Given the description of an element on the screen output the (x, y) to click on. 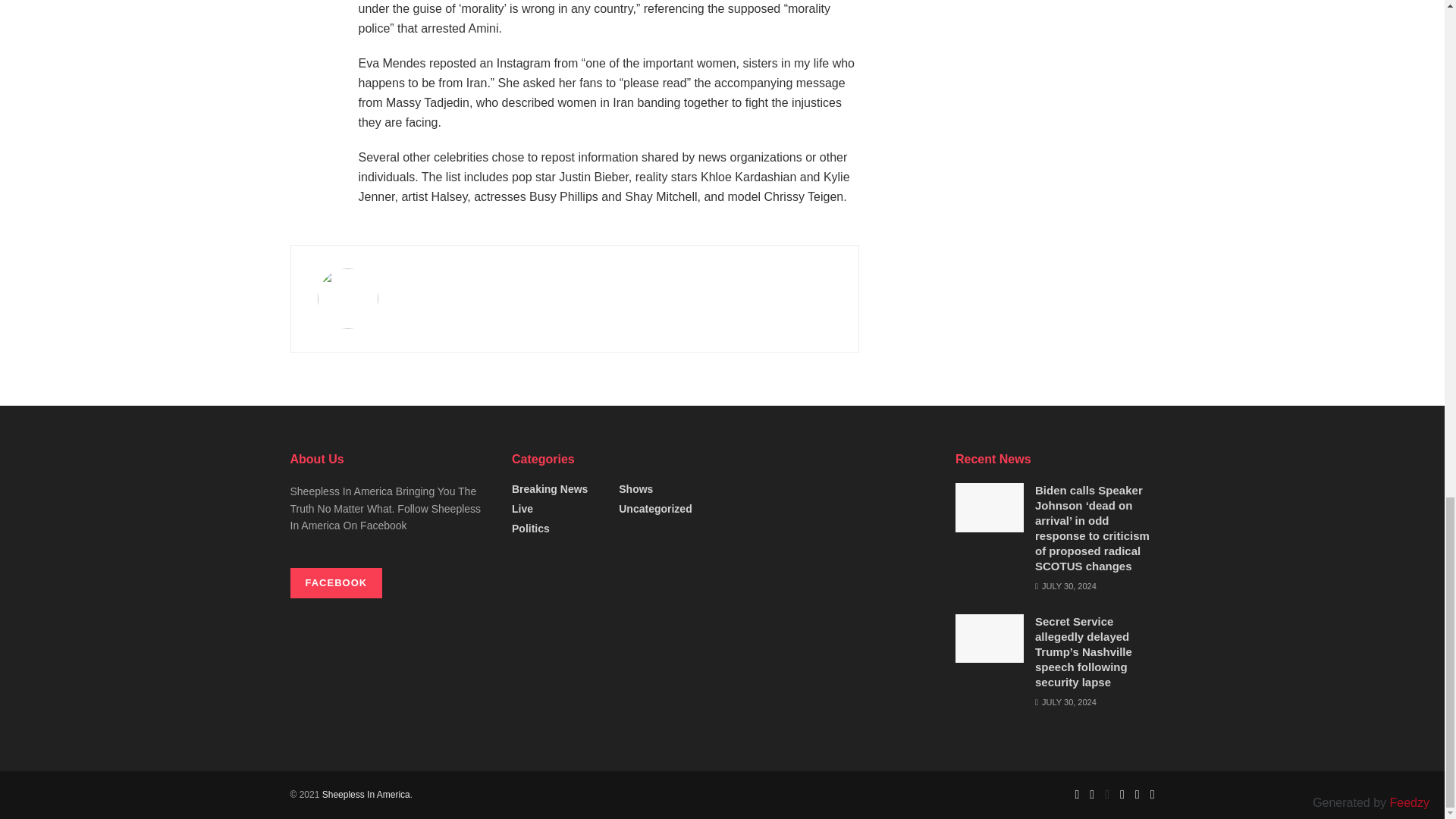
Sheepless (365, 794)
